Given the description of an element on the screen output the (x, y) to click on. 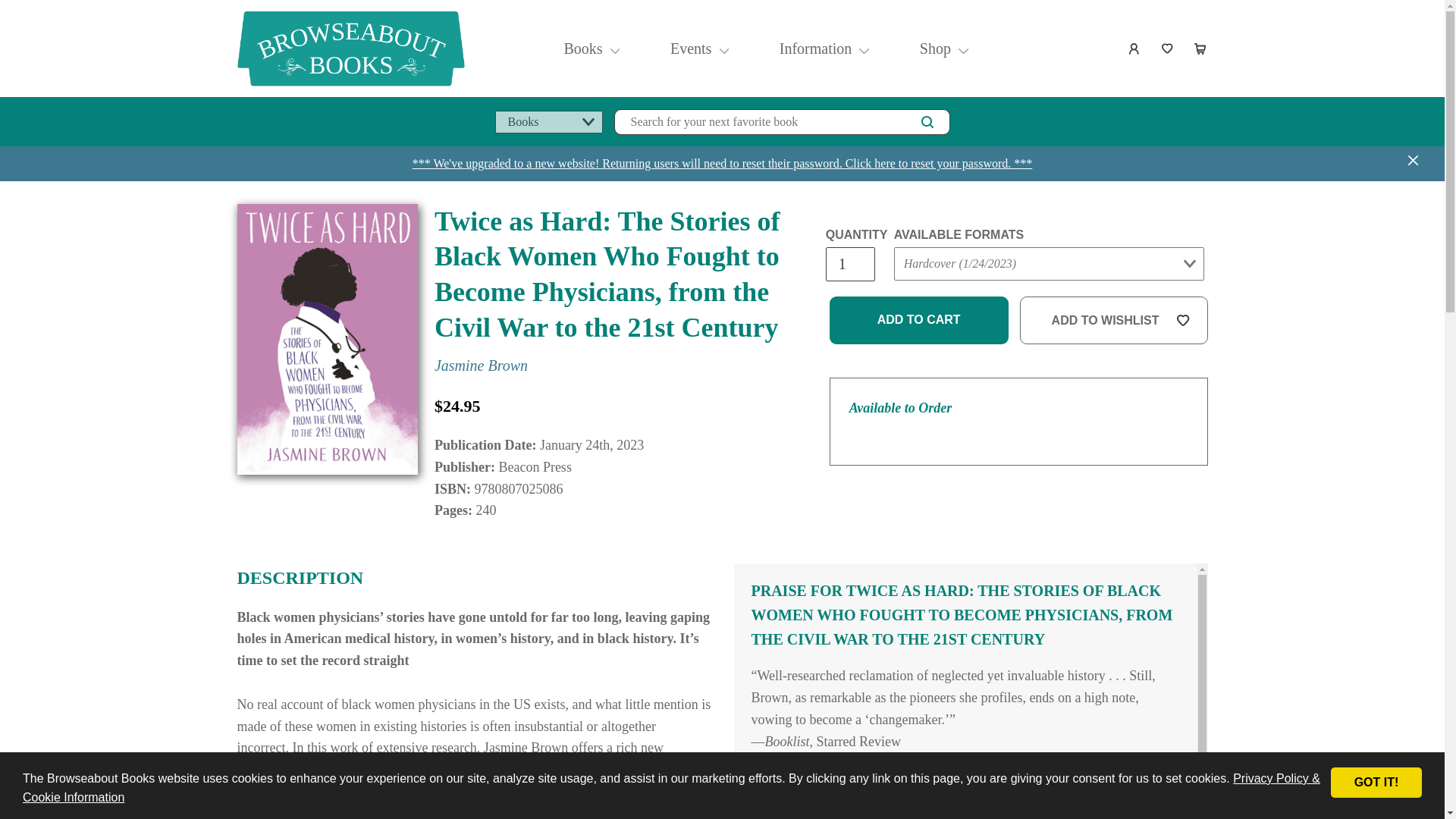
Events (691, 48)
Wishlists (1168, 48)
Add to cart (919, 320)
EVENTS SUB-NAVIGATION (724, 47)
Submit (922, 293)
SHOP SUB-NAVIGATION (963, 47)
1 (850, 264)
Log in (1134, 48)
Cart (1201, 48)
INFORMATION SUB-NAVIGATION (864, 47)
Books (582, 48)
Add to cart (919, 320)
Log in (1134, 48)
Information (815, 48)
